Given the description of an element on the screen output the (x, y) to click on. 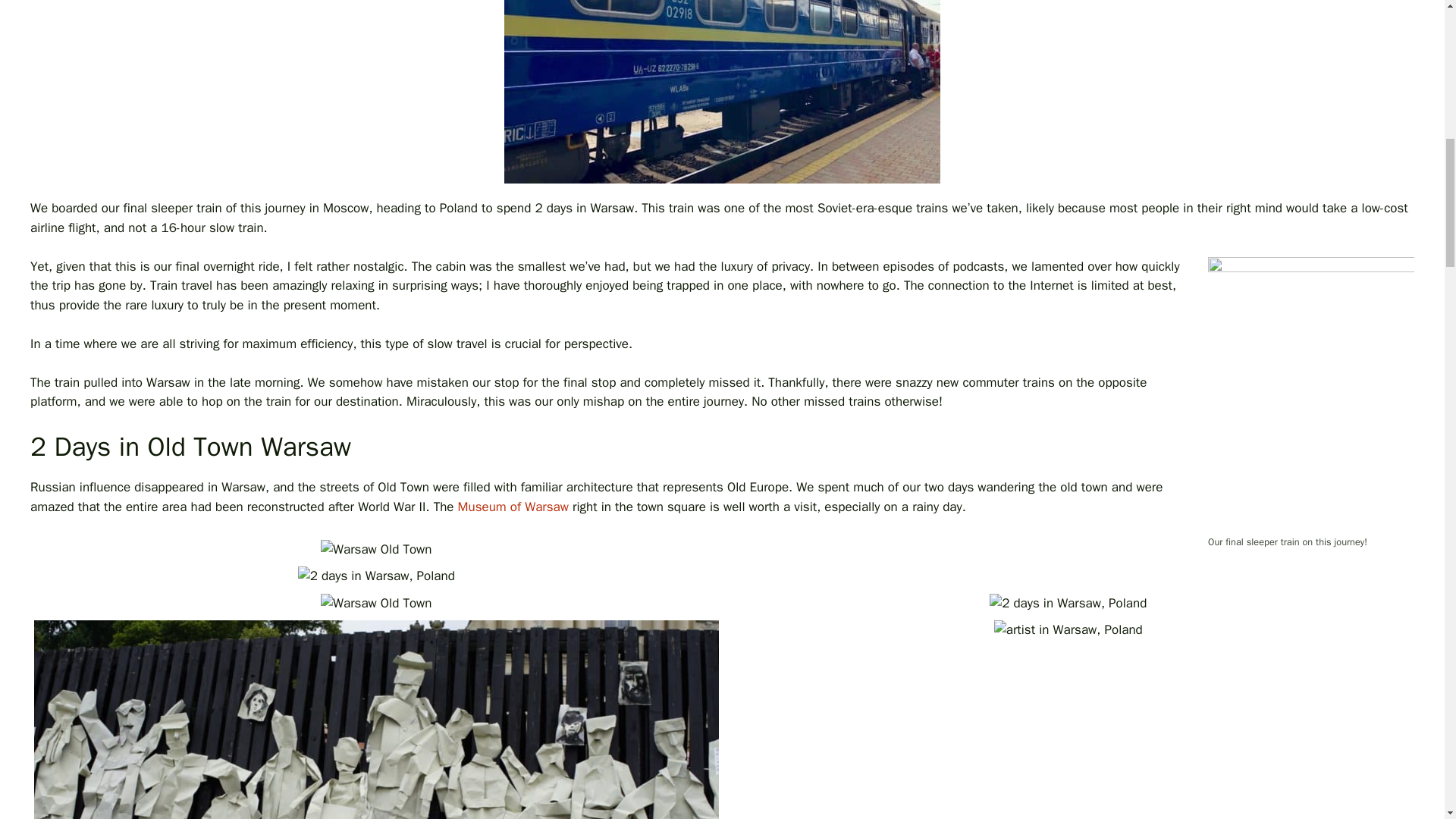
Scroll back to top (1406, 720)
